Given the description of an element on the screen output the (x, y) to click on. 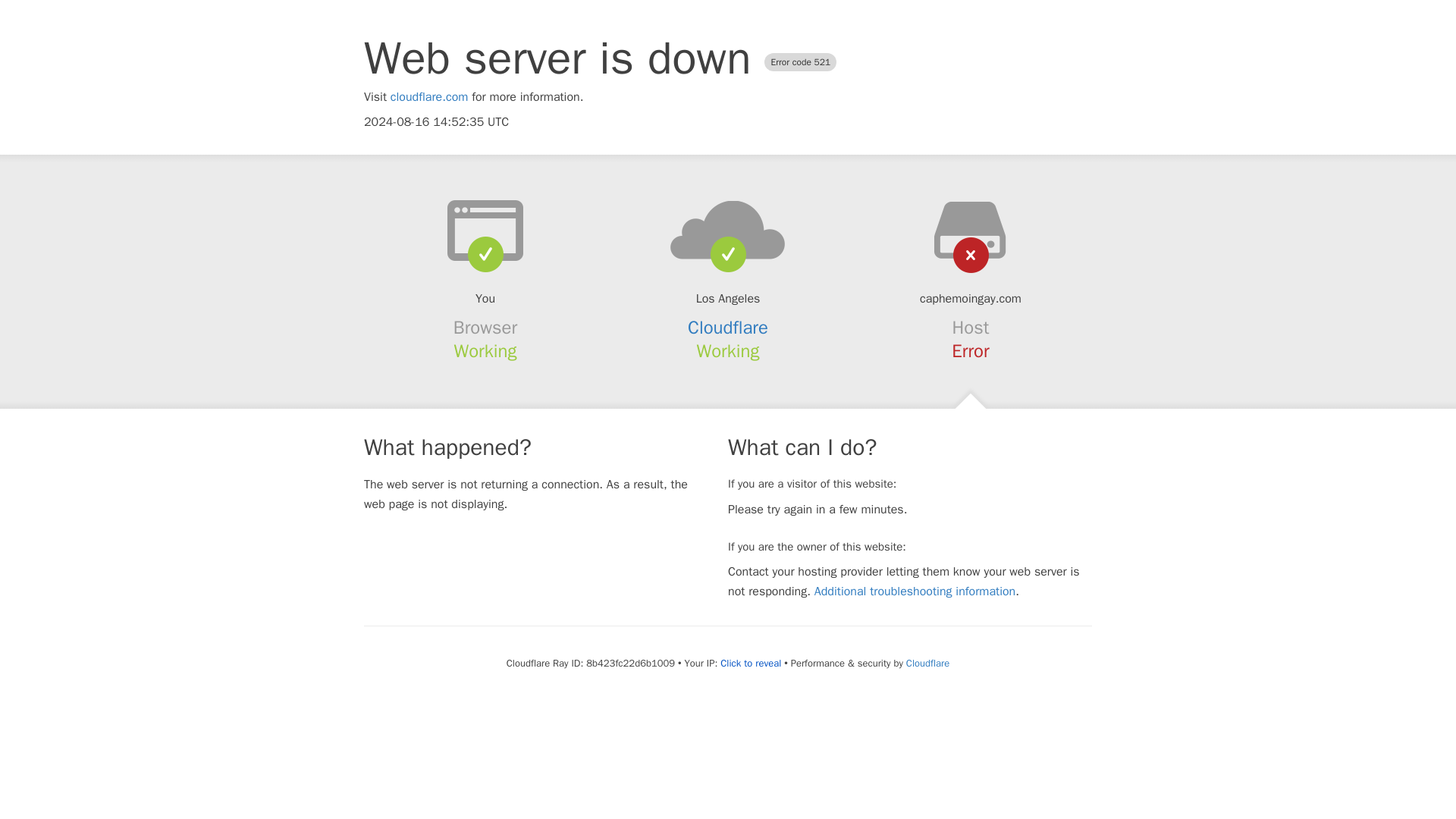
Additional troubleshooting information (913, 590)
cloudflare.com (429, 96)
Click to reveal (750, 663)
Cloudflare (927, 662)
Cloudflare (727, 327)
